Given the description of an element on the screen output the (x, y) to click on. 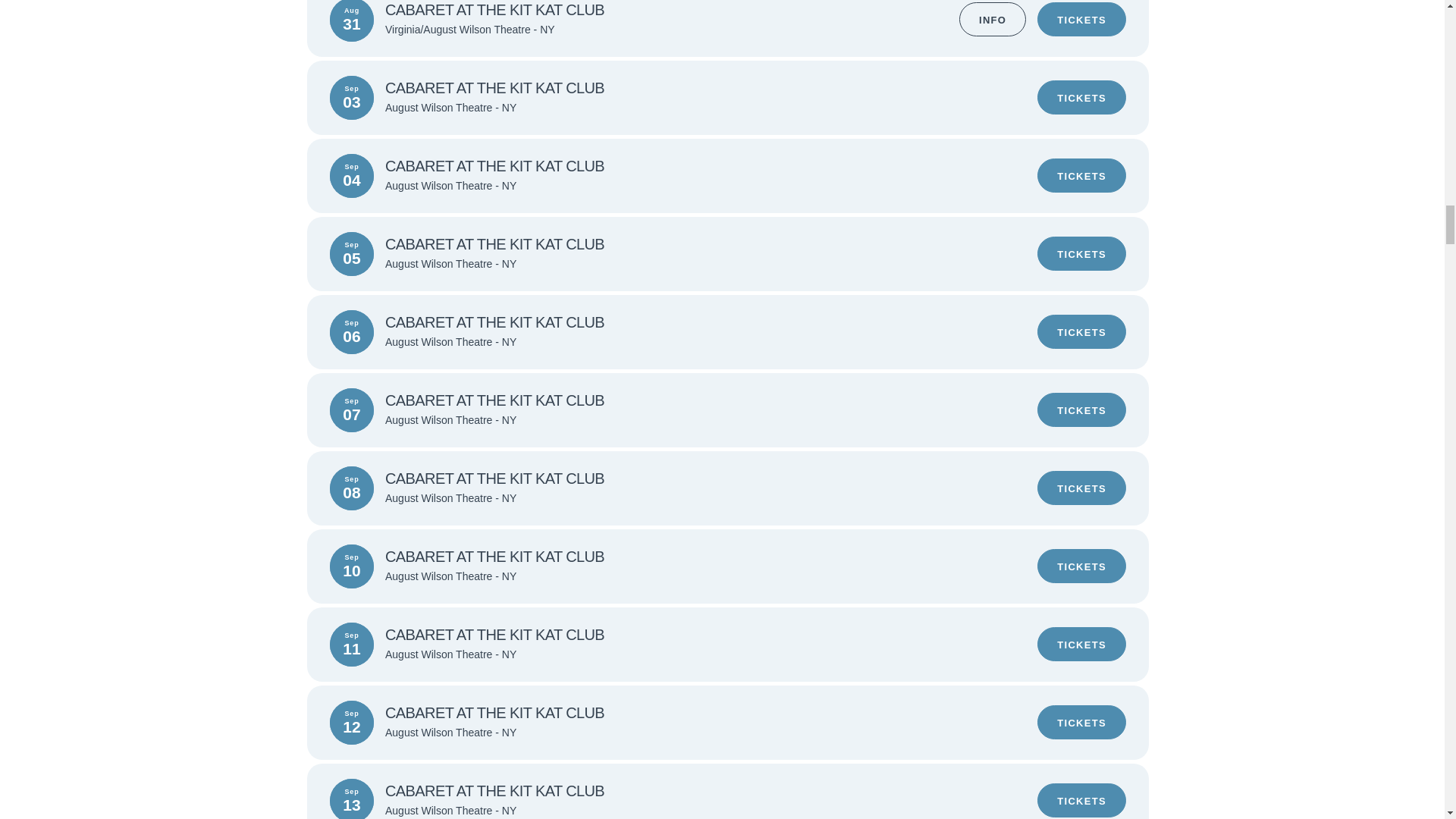
TICKETS (1080, 19)
TICKETS (1080, 643)
TICKETS (1080, 409)
TICKETS (1080, 253)
TICKETS (1080, 97)
TICKETS (1080, 722)
TICKETS (1080, 565)
TICKETS (1080, 175)
INFO (992, 19)
TICKETS (1080, 799)
